Given the description of an element on the screen output the (x, y) to click on. 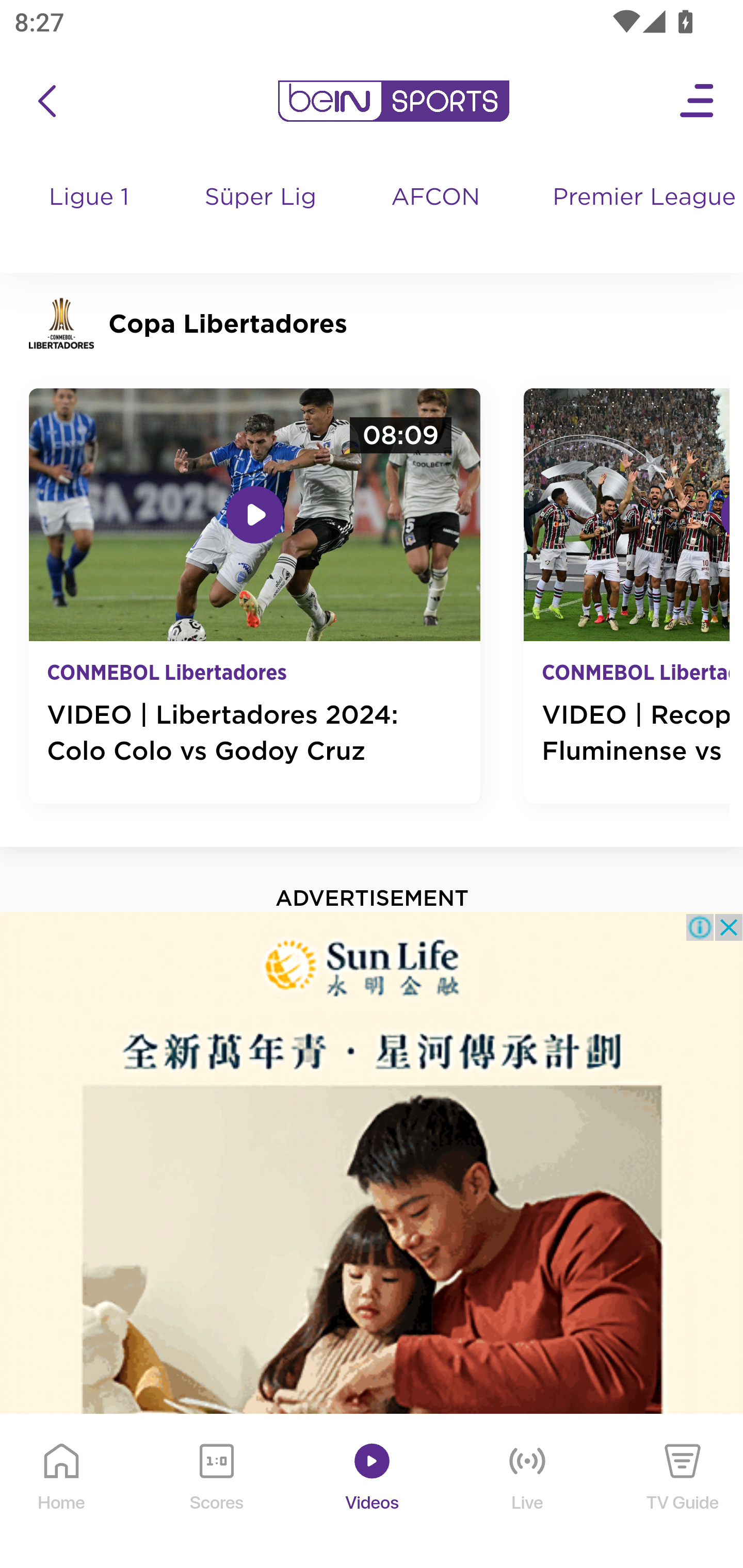
en-us?platform=mobile_android bein logo (392, 101)
icon back (46, 101)
Open Menu Icon (697, 101)
Ligue 1 (89, 216)
Süper Lig (261, 216)
AFCON (434, 198)
Premier League (639, 198)
Home Home Icon Home (61, 1491)
Scores Scores Icon Scores (216, 1491)
Videos Videos Icon Videos (372, 1491)
TV Guide TV Guide Icon TV Guide (682, 1491)
